Given the description of an element on the screen output the (x, y) to click on. 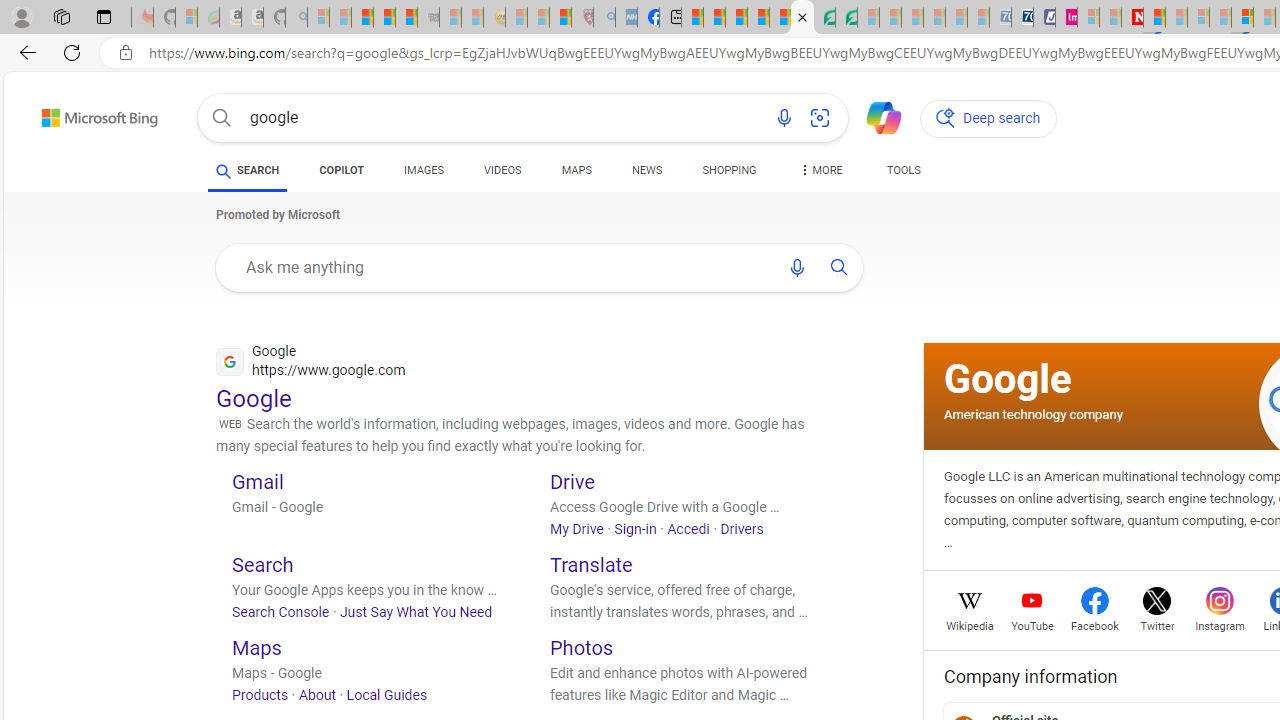
TOOLS (903, 170)
YouTube (1032, 624)
Back to Bing search (87, 113)
Photos (582, 647)
AutomationID: uaseabtn (839, 267)
Local - MSN (560, 17)
Ask me anything (502, 267)
